Given the description of an element on the screen output the (x, y) to click on. 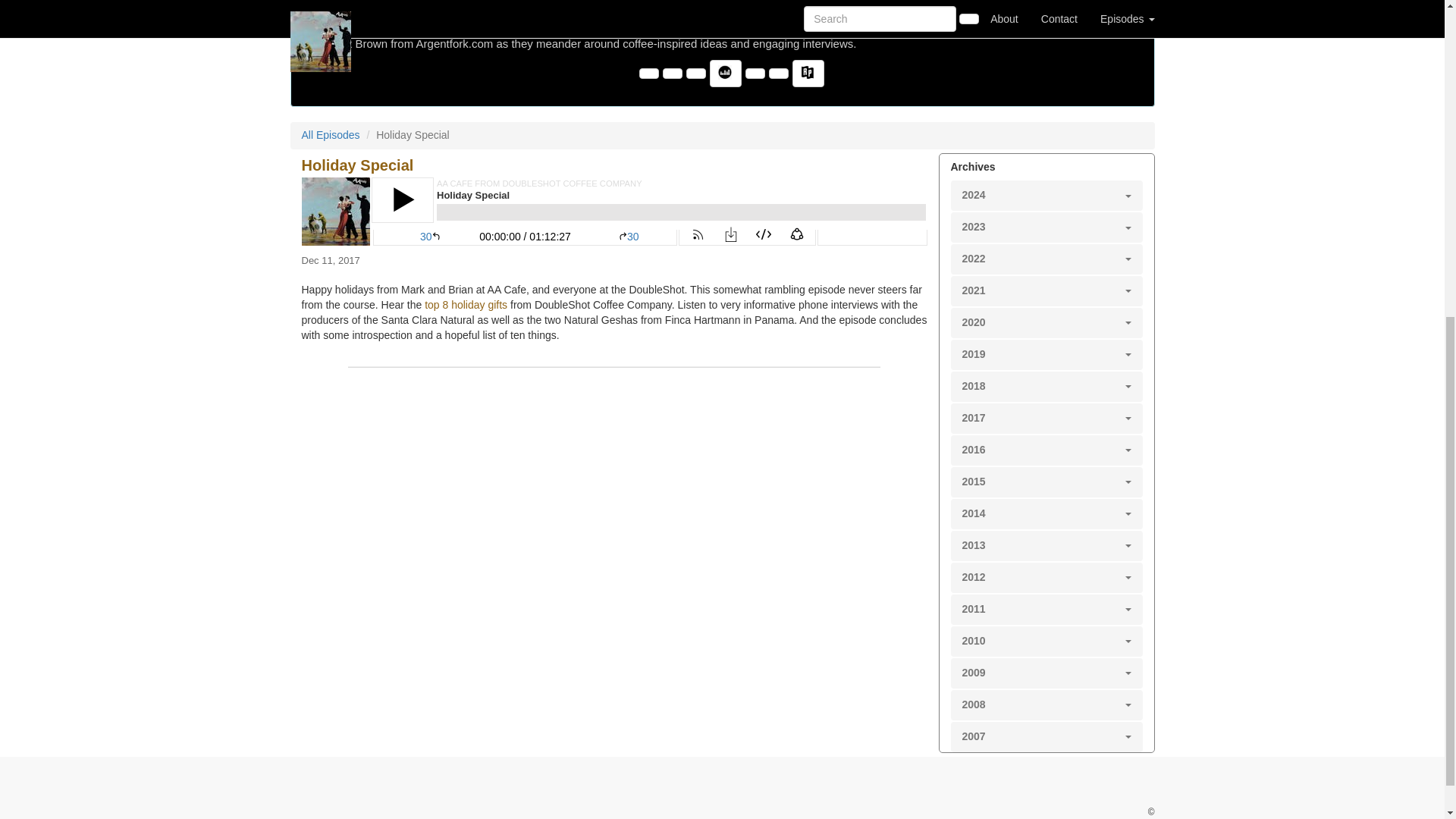
Holiday Special (614, 211)
